Given the description of an element on the screen output the (x, y) to click on. 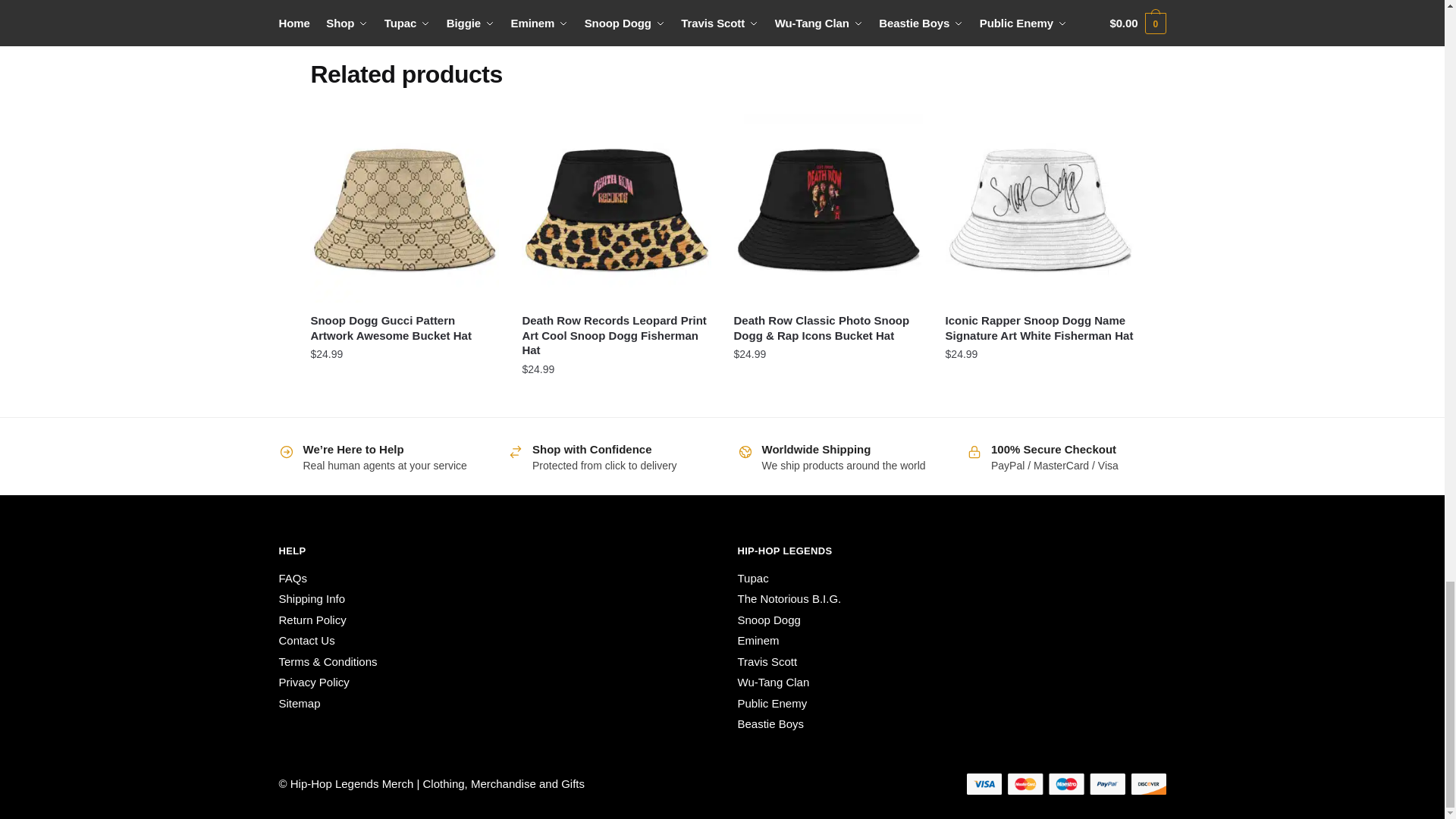
Snoop Dogg Gucci Pattern Artwork Awesome Bucket Hat (404, 207)
